Given the description of an element on the screen output the (x, y) to click on. 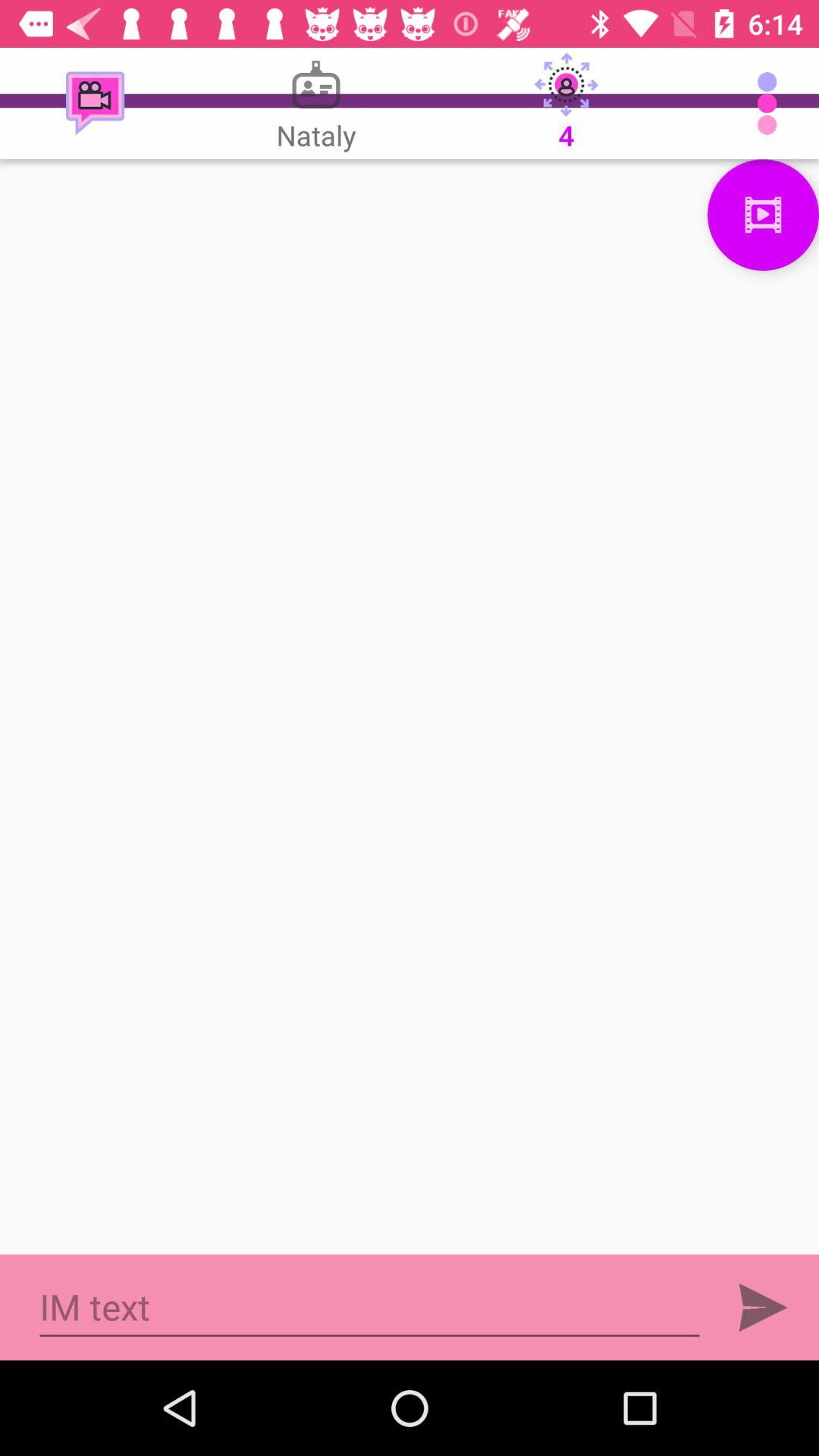
add video file (763, 214)
